Given the description of an element on the screen output the (x, y) to click on. 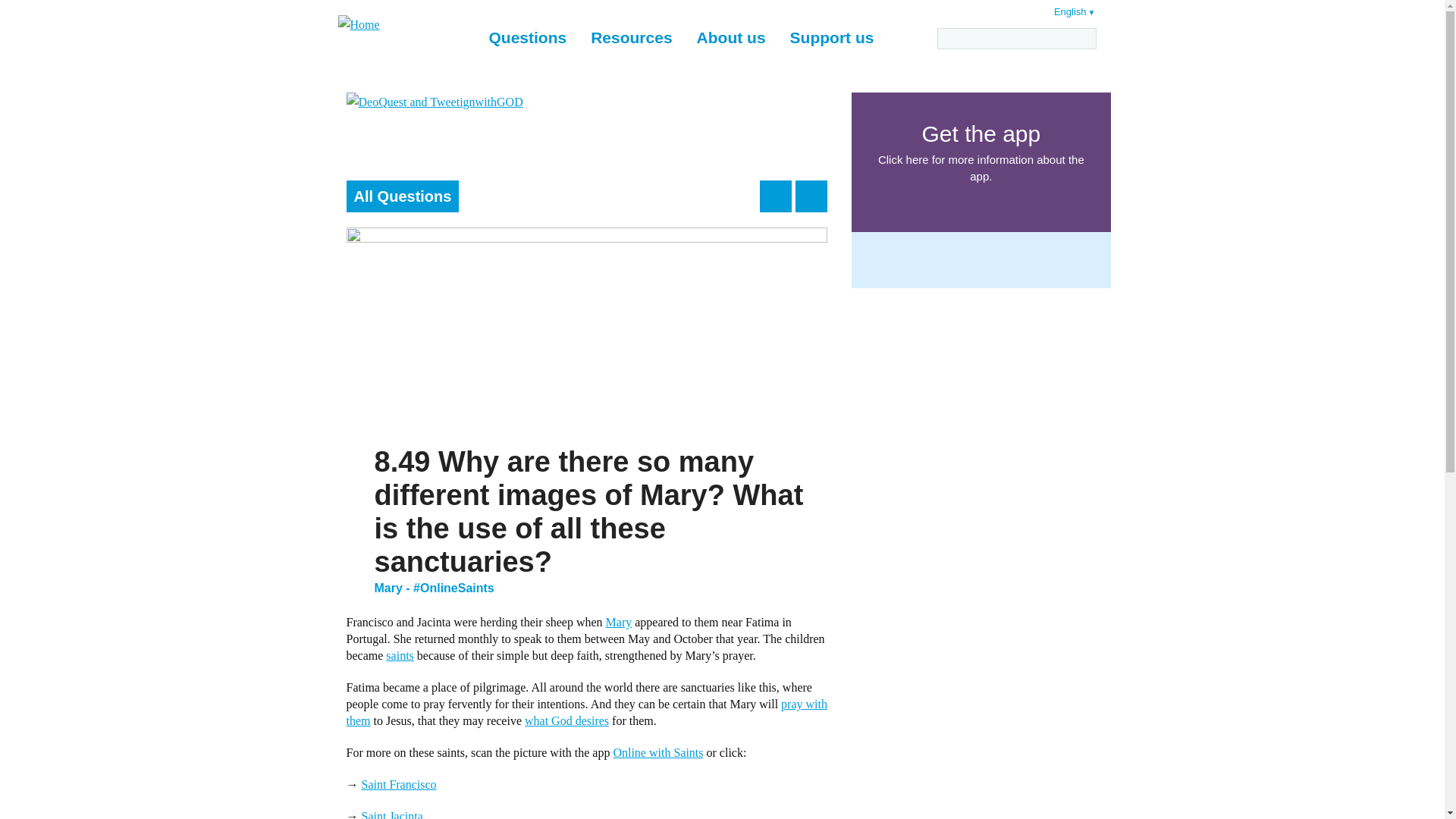
Support us (831, 38)
Questions (527, 38)
Search (1084, 38)
4.06 How can I know the Will of God? (566, 720)
DeoQuest: connecting you, faith, and modern life questions (586, 120)
Search (1084, 38)
Home (405, 25)
4.16 Which saint shall I pray to? There are so many! (399, 655)
Enter the terms you wish to search for. (1016, 38)
